Given the description of an element on the screen output the (x, y) to click on. 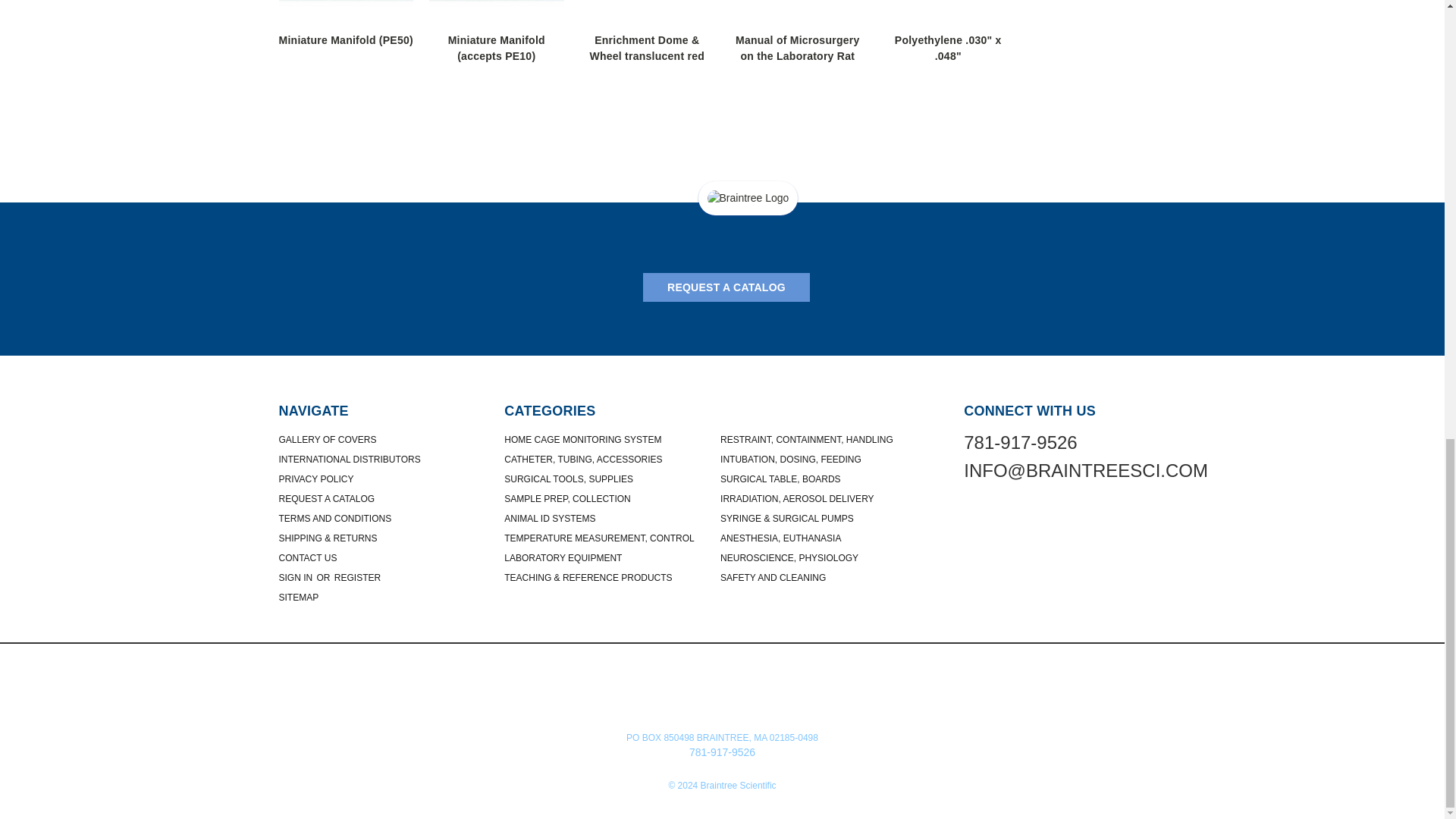
Polyethylene .030" x .048" (948, 12)
Manual of Microsurgery on the Laboratory Rat (797, 12)
